Given the description of an element on the screen output the (x, y) to click on. 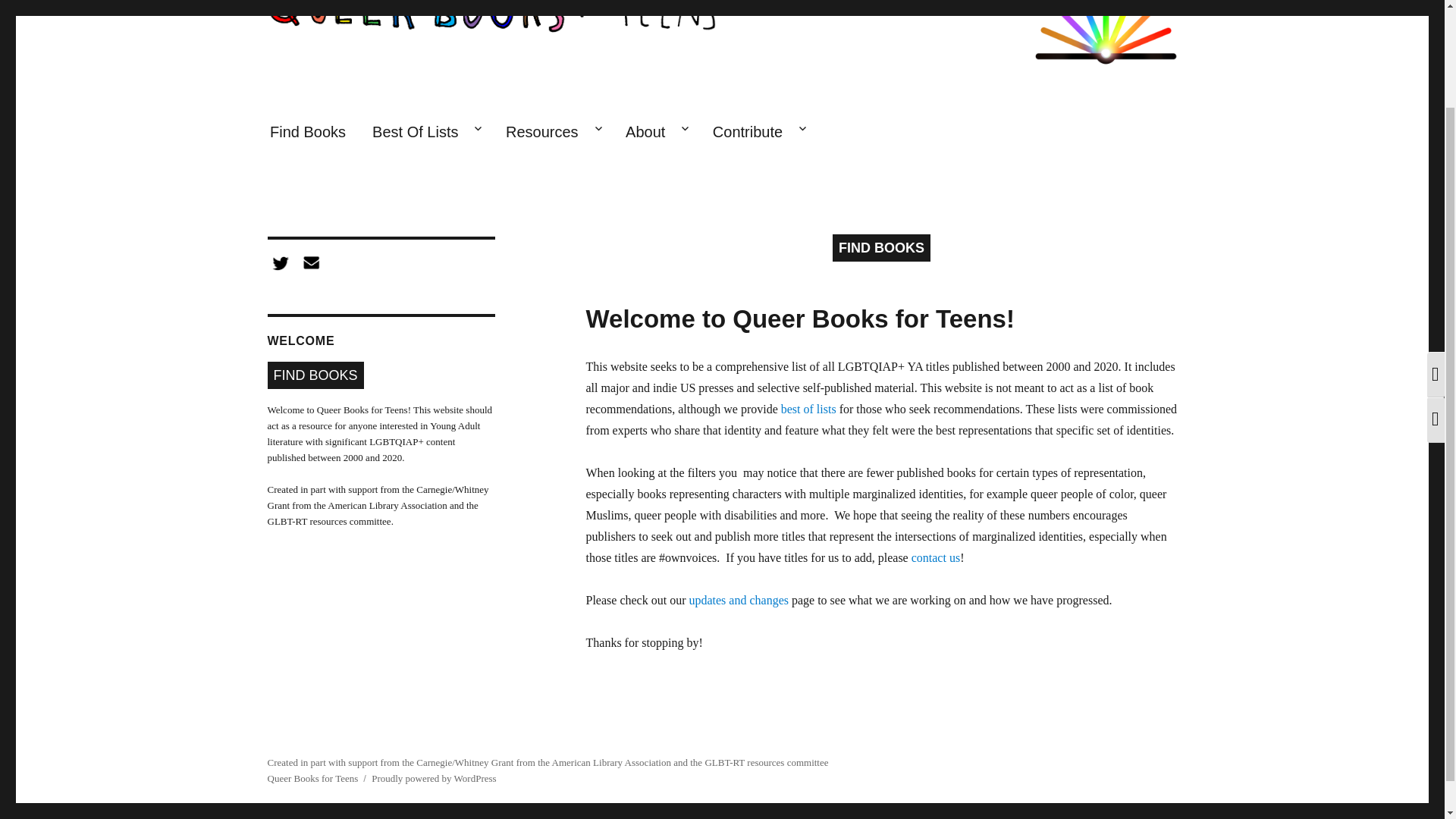
About (656, 132)
Resources (551, 132)
Contribute (757, 132)
FIND BOOKS (881, 247)
Best Of Lists (426, 132)
Find Books (307, 132)
contact us (935, 557)
best of lists (807, 408)
updates and changes (738, 599)
